Given the description of an element on the screen output the (x, y) to click on. 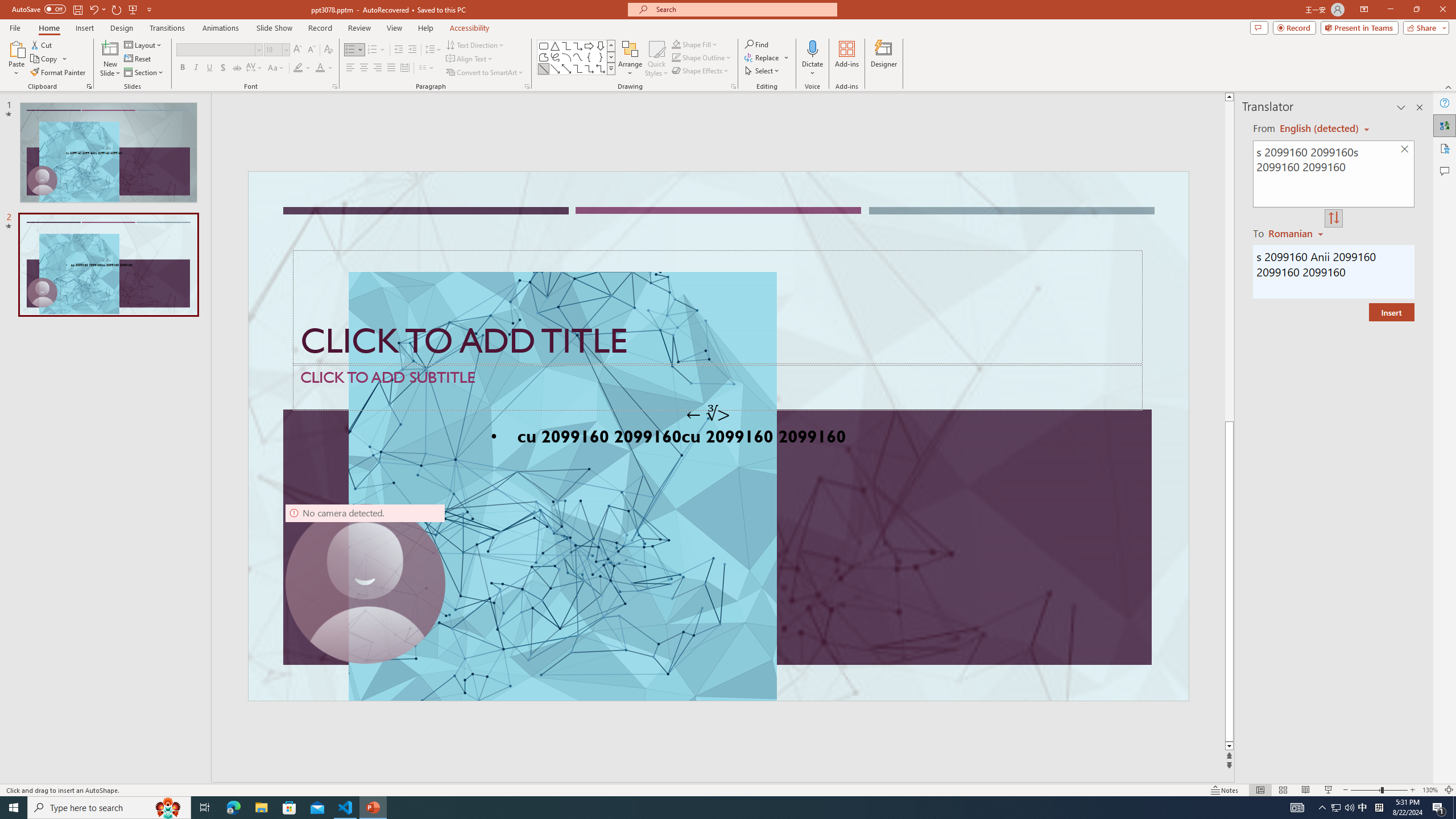
Clear text (1404, 149)
